Given the description of an element on the screen output the (x, y) to click on. 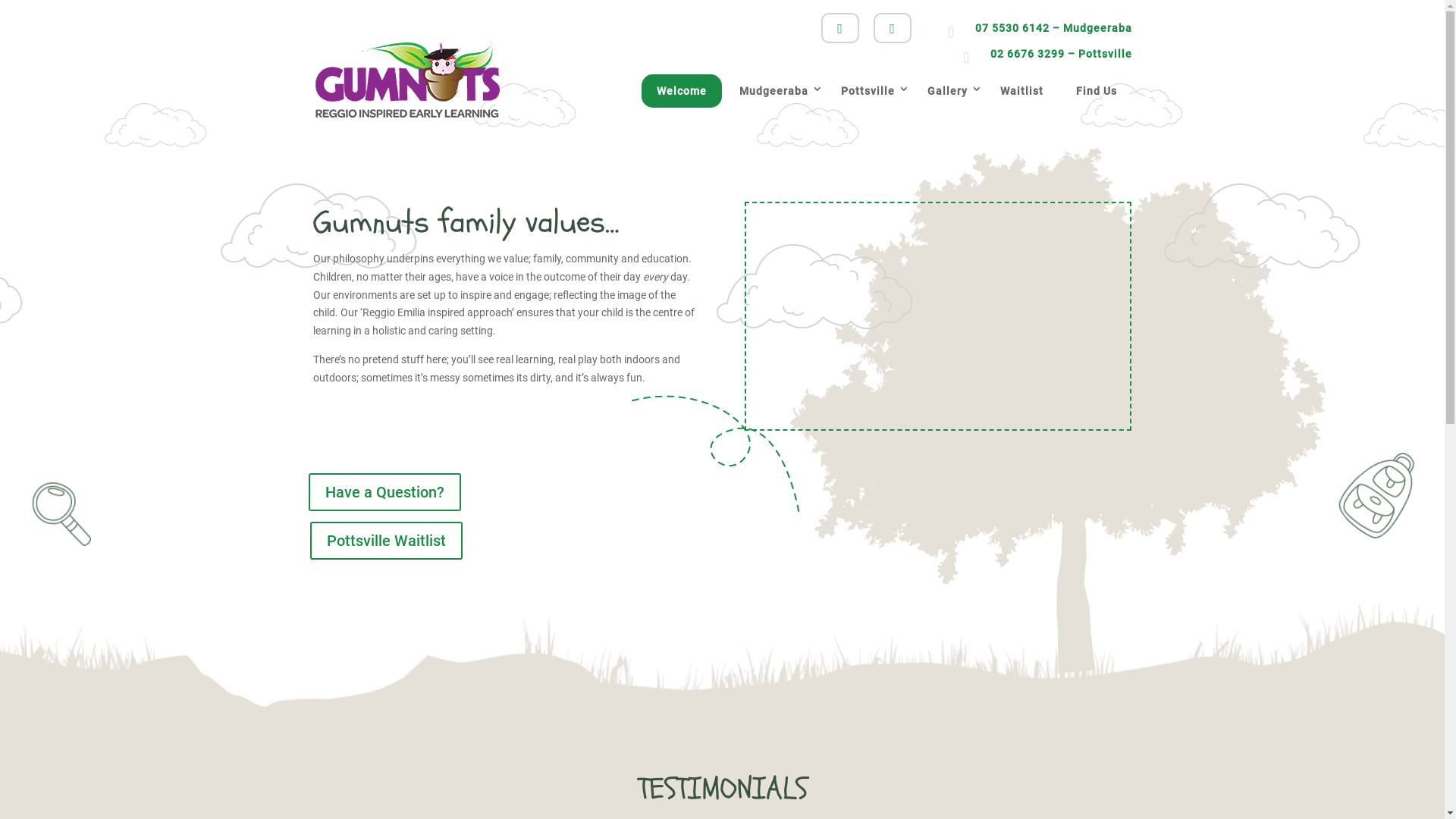
Pottsville Element type: text (867, 90)
Welcome Element type: text (681, 90)
Instagram Element type: text (892, 27)
Find Us Element type: text (1095, 90)
Pottsville Waitlist Element type: text (385, 540)
Have a Question? Element type: text (383, 492)
Waitlist Element type: text (1020, 90)
Gallery Element type: text (946, 90)
Mudgeeraba Element type: text (772, 90)
facebook Element type: text (839, 27)
